Given the description of an element on the screen output the (x, y) to click on. 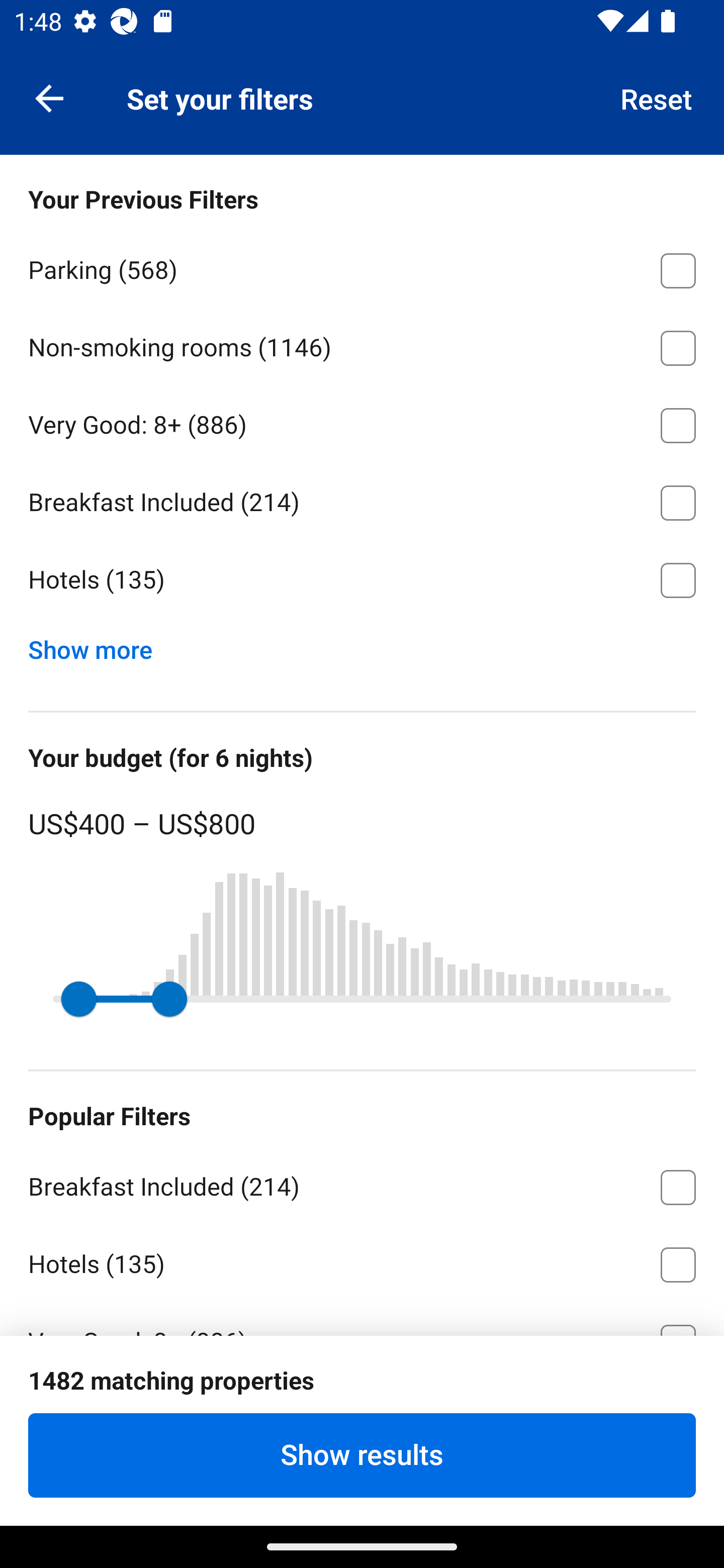
Navigate up (49, 97)
Reset (656, 97)
Parking ⁦(568) (361, 266)
Non-smoking rooms ⁦(1146) (361, 344)
Very Good: 8+ ⁦(886) (361, 422)
Breakfast Included ⁦(214) (361, 498)
Hotels ⁦(135) (361, 579)
Show more (97, 645)
400.0 Range start,US$400 800.0 Range end,US$800 (361, 998)
Breakfast Included ⁦(214) (361, 1183)
Hotels ⁦(135) (361, 1261)
Show results (361, 1454)
